Given the description of an element on the screen output the (x, y) to click on. 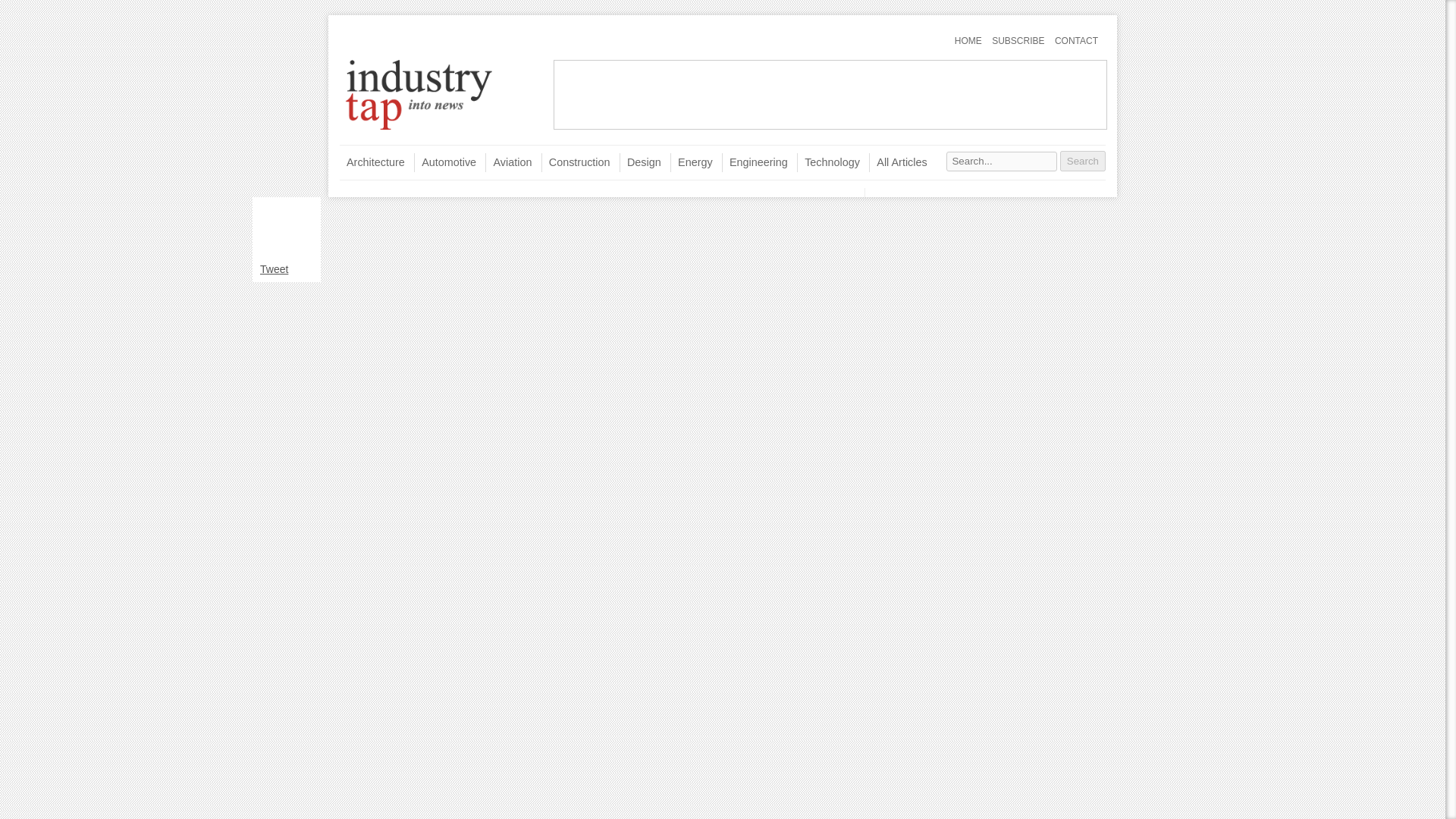
Energy (691, 162)
Aviation (507, 162)
Skip to content (368, 34)
Industry Tap (419, 130)
All Articles (897, 162)
Search (1082, 160)
Construction (575, 162)
Search (1082, 160)
SUBSCRIBE (1017, 41)
Skip to content (368, 34)
